Given the description of an element on the screen output the (x, y) to click on. 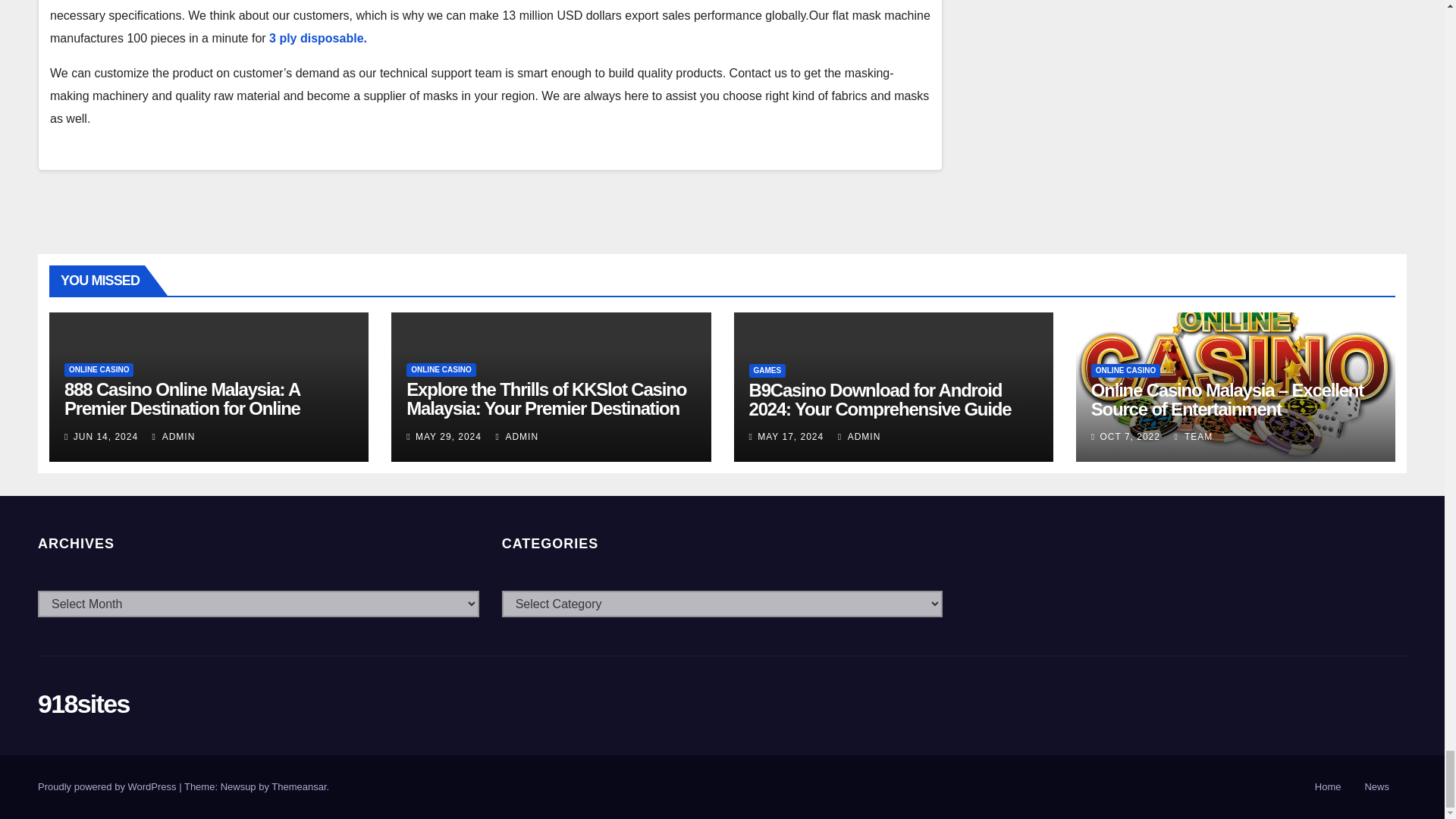
Home (1328, 786)
